Given the description of an element on the screen output the (x, y) to click on. 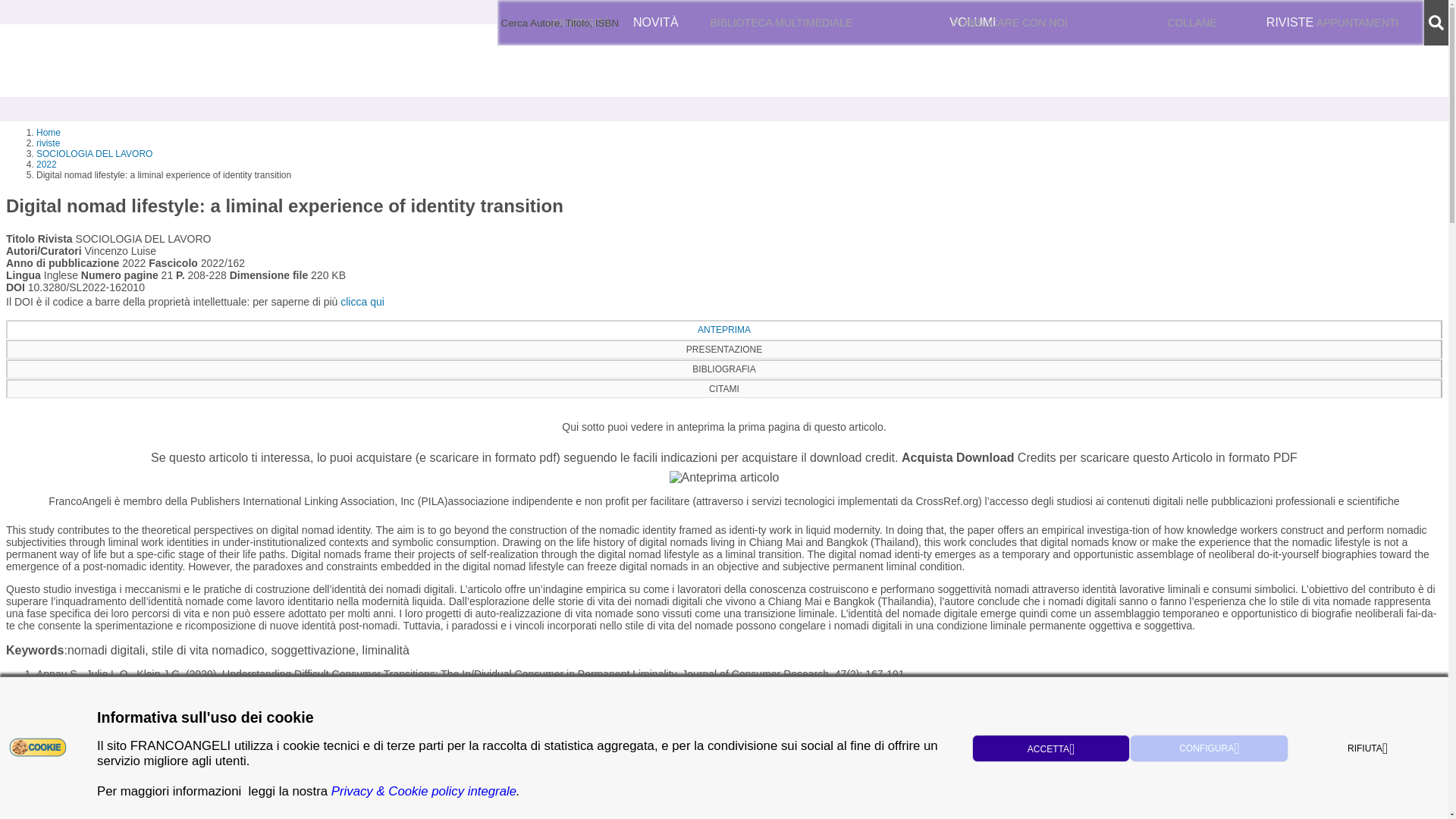
chi siamo (525, 22)
ENG (1152, 22)
Preferiti (1315, 22)
Ricerca Avanzata (567, 22)
BIBLIOTECA MULTIMEDIALE (781, 22)
aiuto (619, 22)
Accedi (1230, 22)
PUBBLICARE CON NOI (1010, 22)
COLLANE (1192, 22)
CookieMan BY ML informatica (37, 746)
